Given the description of an element on the screen output the (x, y) to click on. 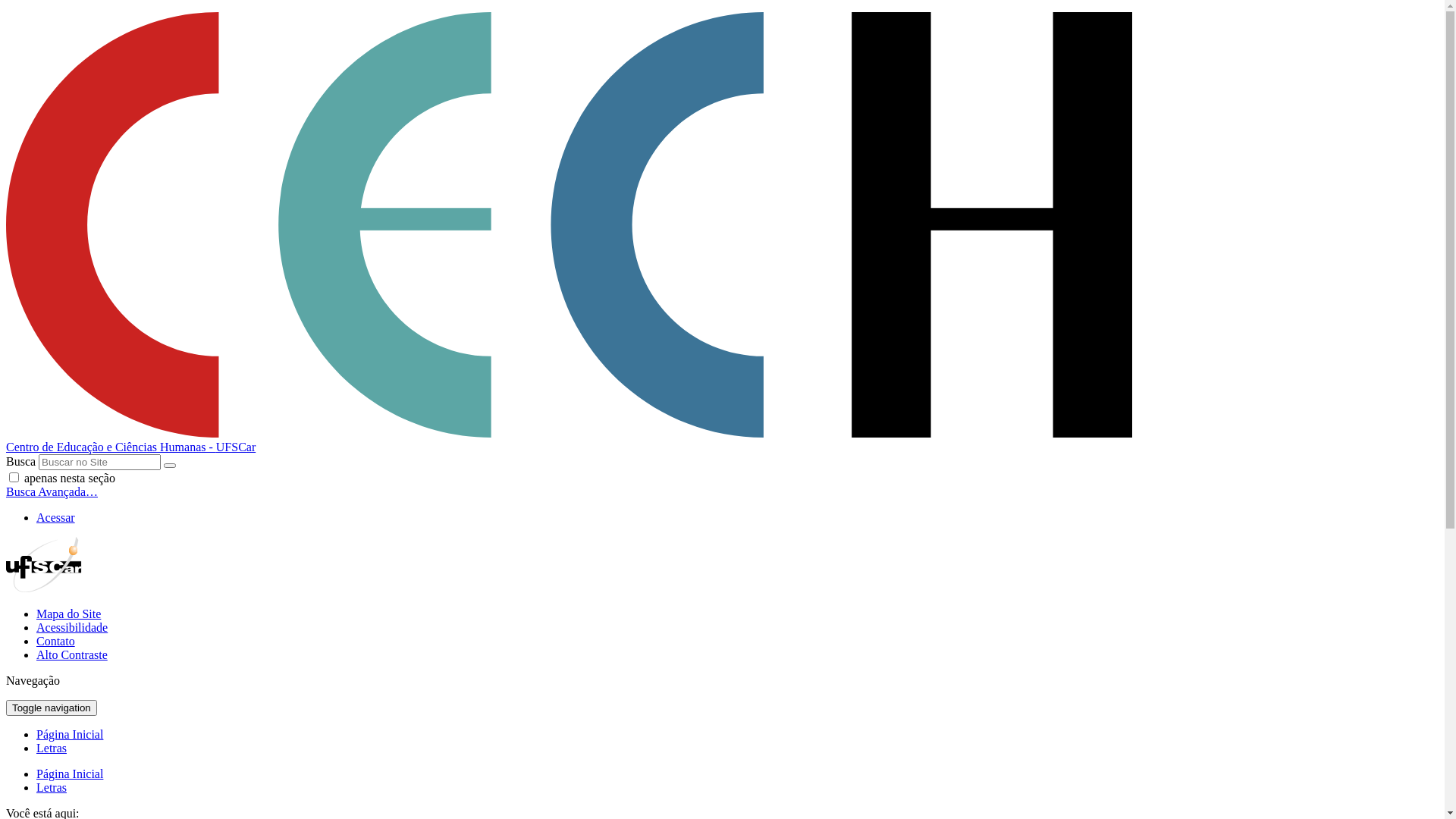
Alto Contraste Element type: text (71, 654)
Acessibilidade Element type: text (71, 627)
Contato Element type: text (55, 640)
Portal UFSCar Element type: hover (43, 587)
Letras Element type: text (51, 787)
Toggle navigation Element type: text (51, 707)
Buscar no Site Element type: hover (99, 462)
Mapa do Site Element type: text (68, 613)
Acessar Element type: text (55, 517)
Letras Element type: text (51, 747)
